Given the description of an element on the screen output the (x, y) to click on. 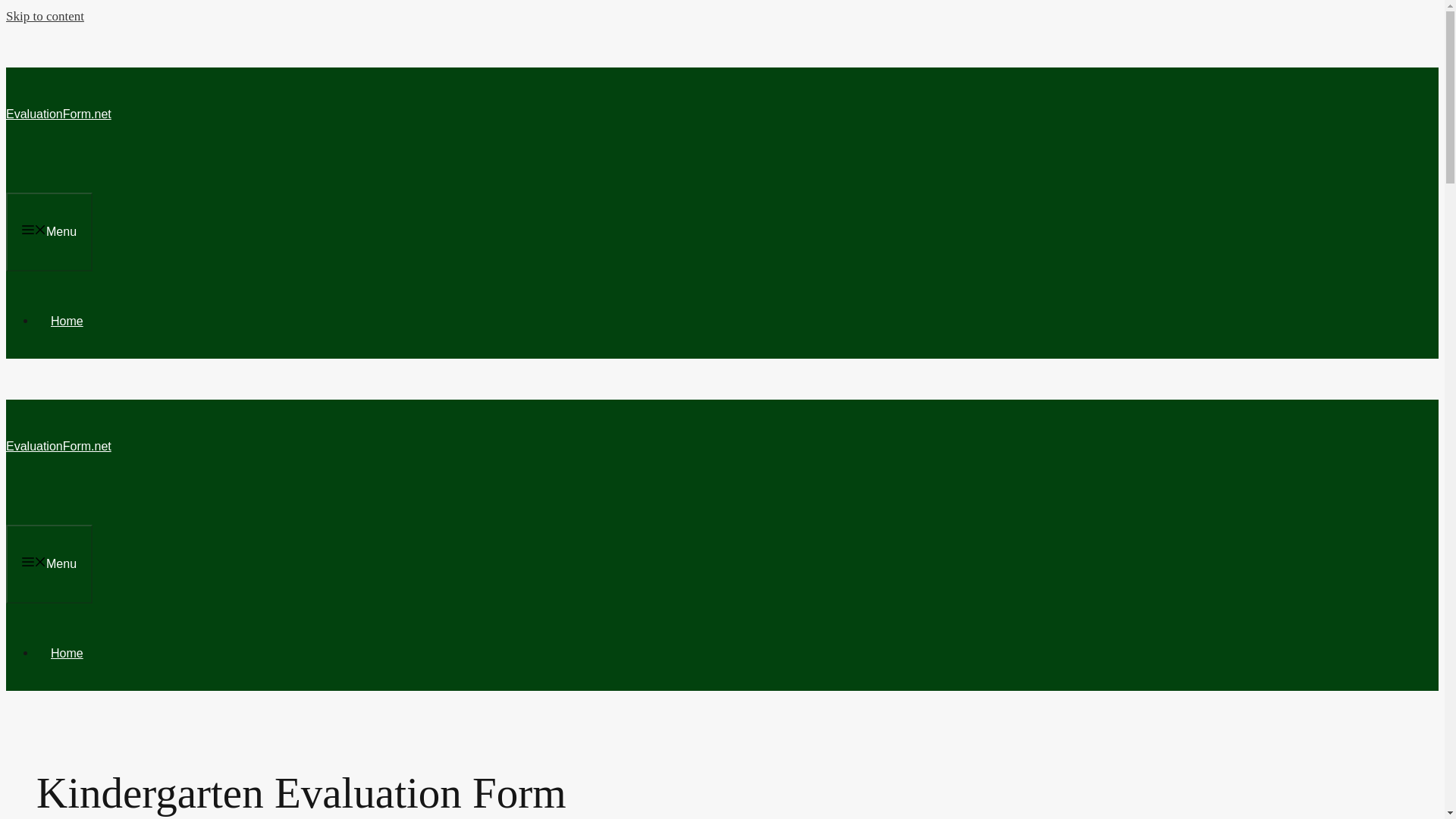
Menu (49, 563)
Home (66, 653)
Skip to content (44, 16)
Home (66, 320)
Menu (49, 231)
EvaluationForm.net (58, 113)
EvaluationForm.net (58, 445)
Skip to content (44, 16)
